Given the description of an element on the screen output the (x, y) to click on. 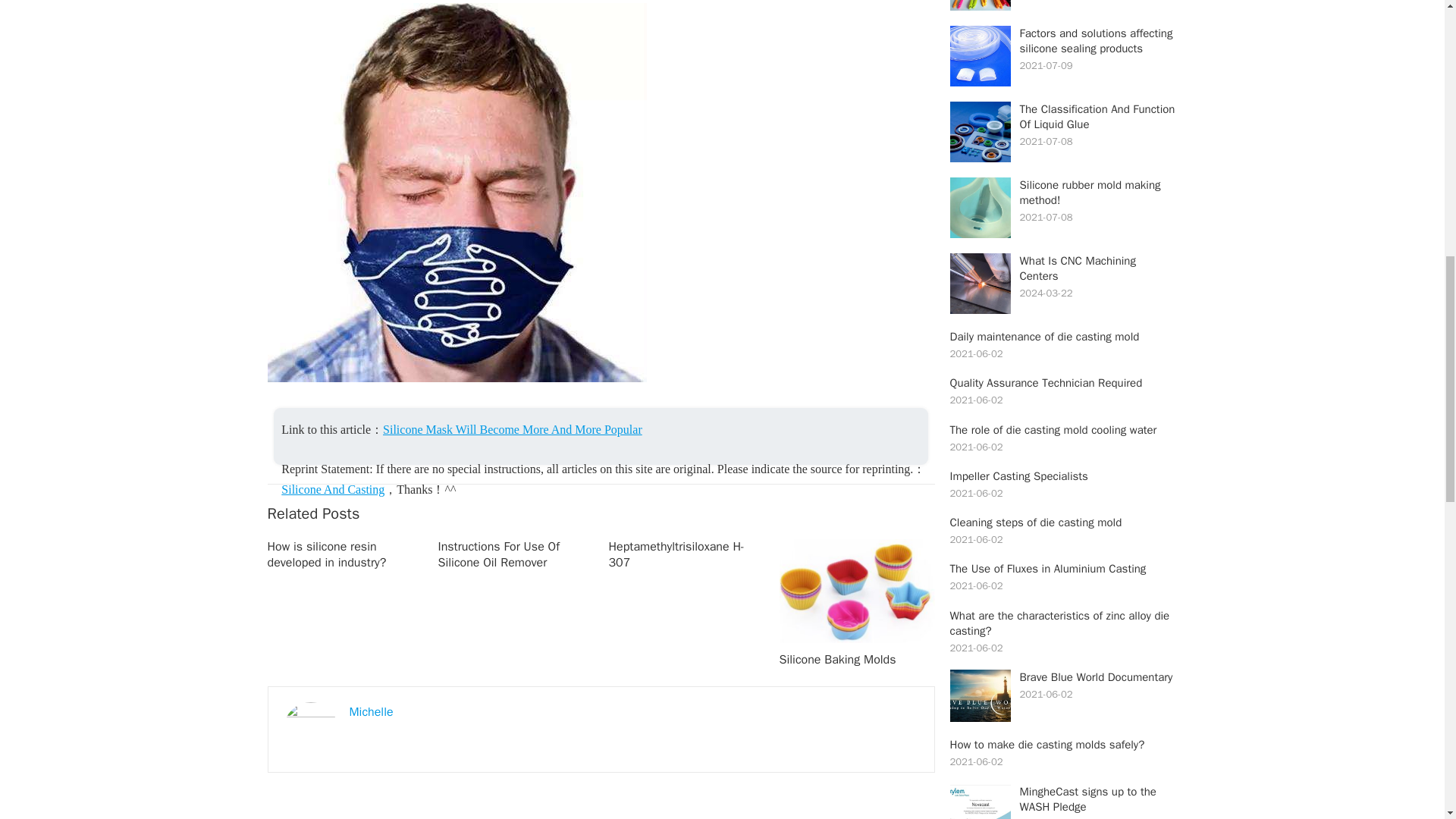
Instructions For Use Of Silicone Oil Remover (498, 554)
How is silicone resin developed in industry? (325, 554)
Silicone Baking Molds (837, 659)
Silicone Mask Will Become More And More Popular (512, 429)
Heptamethyltrisiloxane H-307 (676, 554)
Silicone And Casting (332, 489)
Michelle (371, 711)
